Given the description of an element on the screen output the (x, y) to click on. 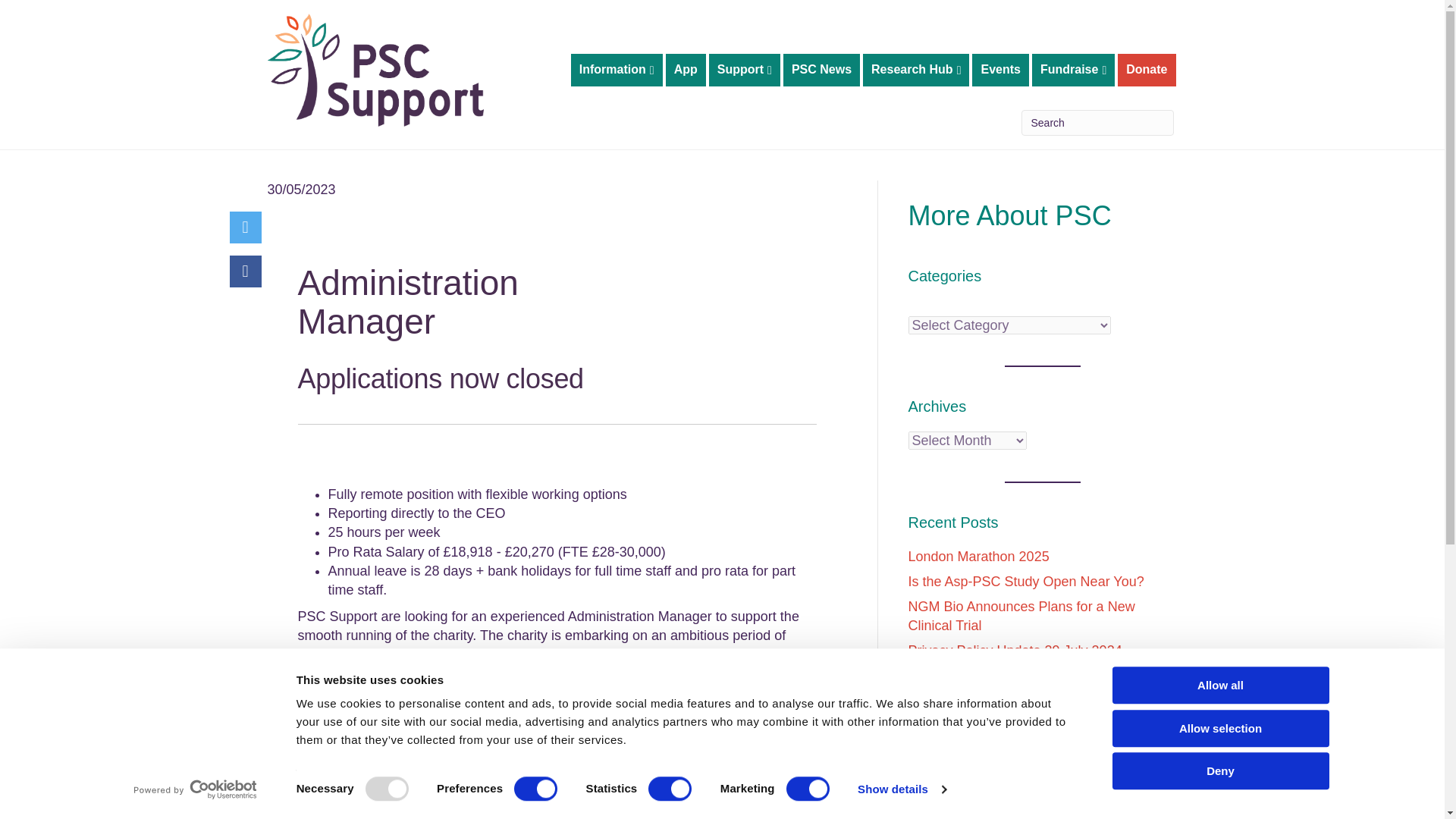
Show details (900, 789)
Search (1096, 122)
Search (1096, 122)
